Given the description of an element on the screen output the (x, y) to click on. 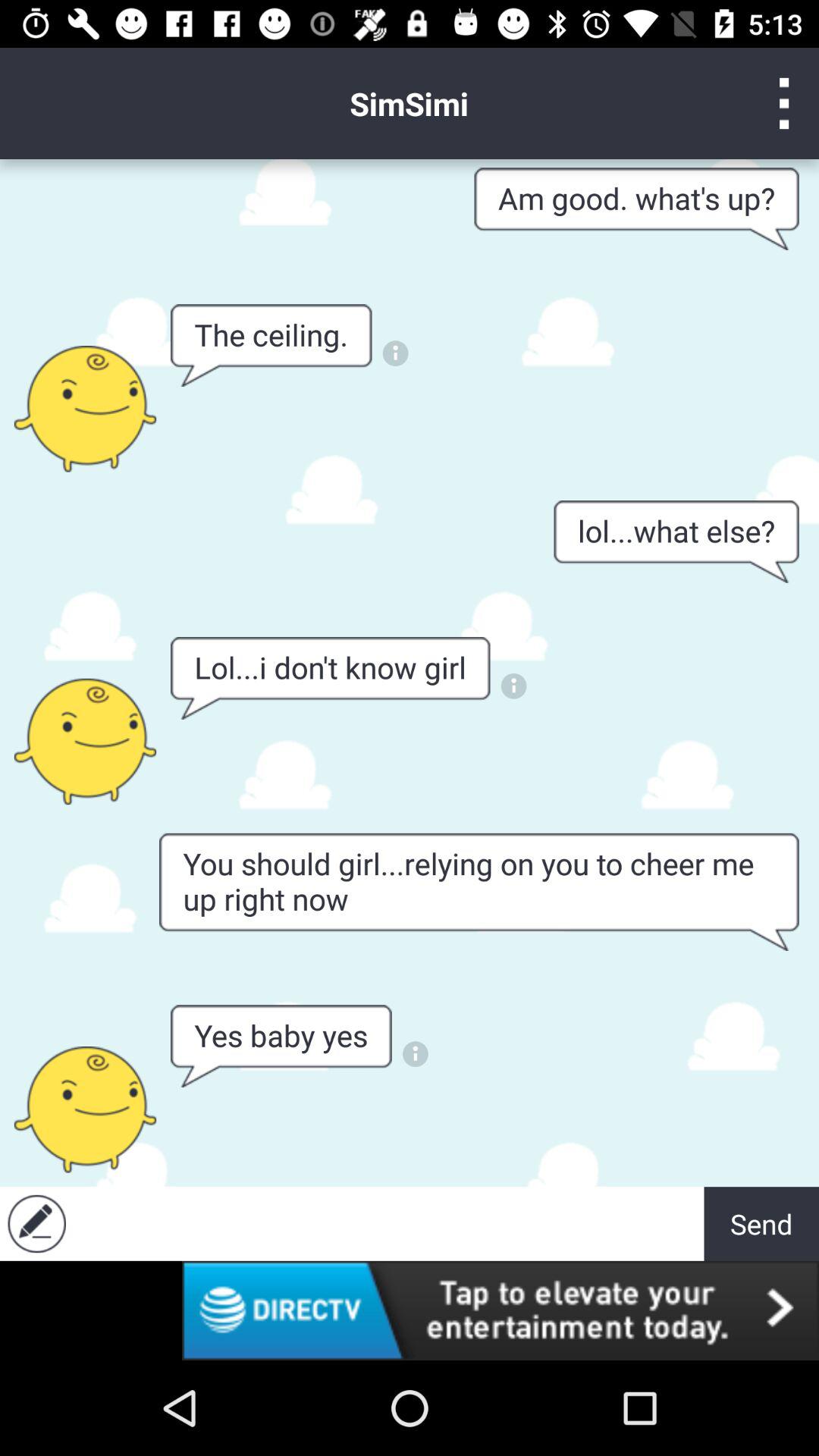
speaking (85, 741)
